Given the description of an element on the screen output the (x, y) to click on. 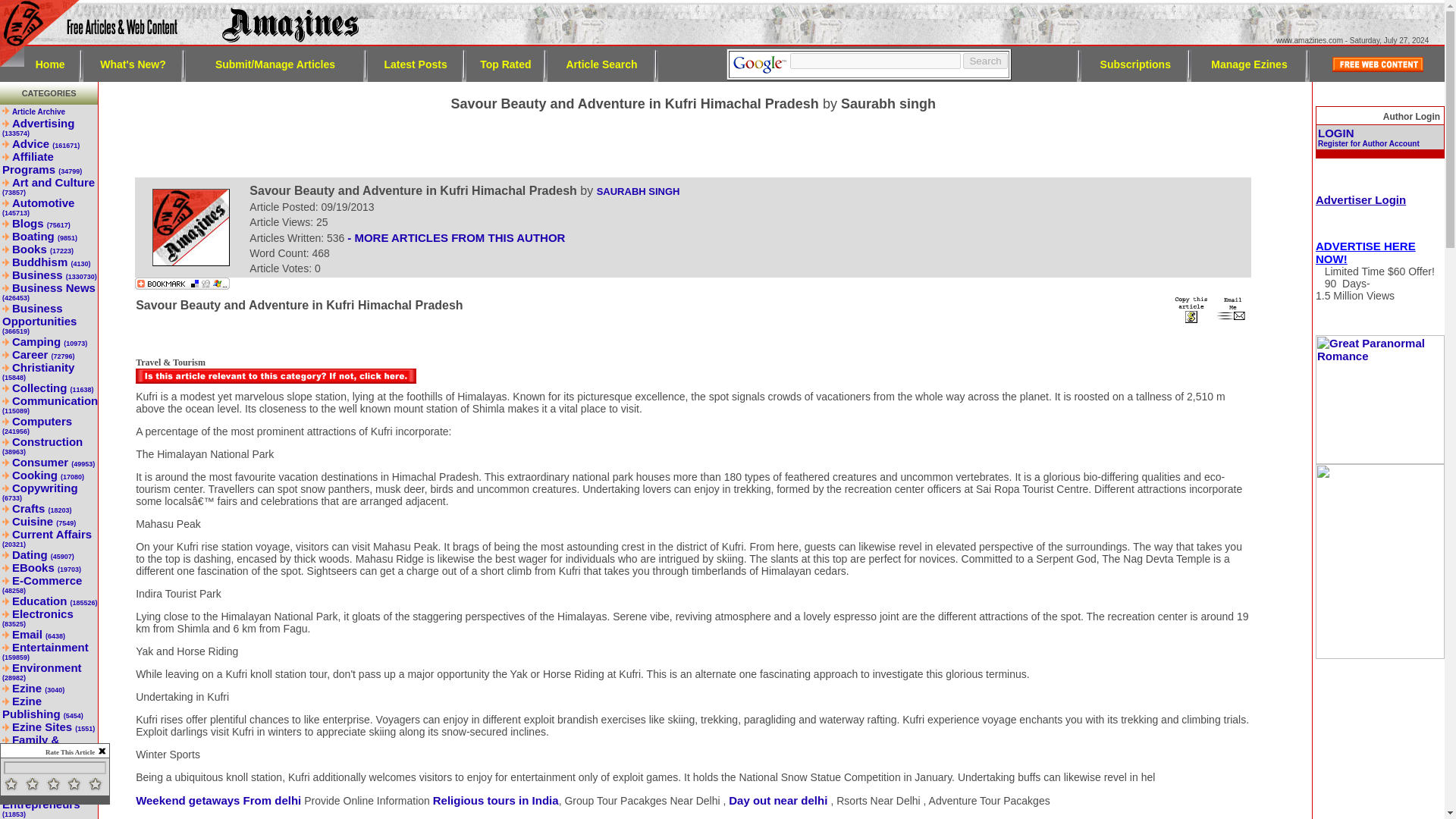
Bookmark using any bookmark manager! (182, 285)
Latest Posts (415, 63)
Article Archive (38, 110)
Article Search (601, 63)
Manage Ezines (1249, 63)
Top Rated (505, 63)
Search (984, 60)
Search (984, 60)
Subscriptions (1135, 63)
Home (49, 63)
What's New? (132, 63)
